Given the description of an element on the screen output the (x, y) to click on. 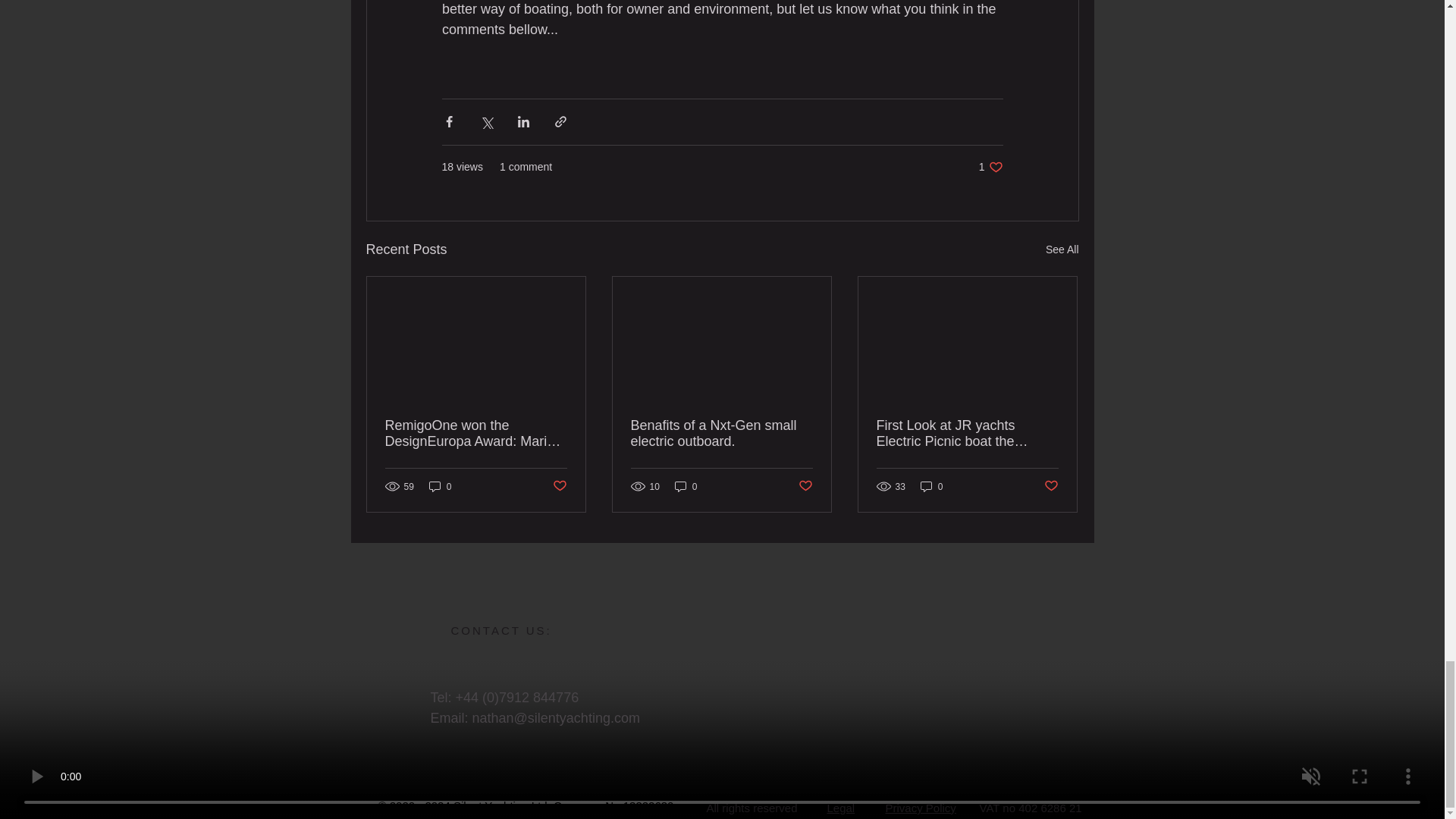
See All (990, 166)
